Given the description of an element on the screen output the (x, y) to click on. 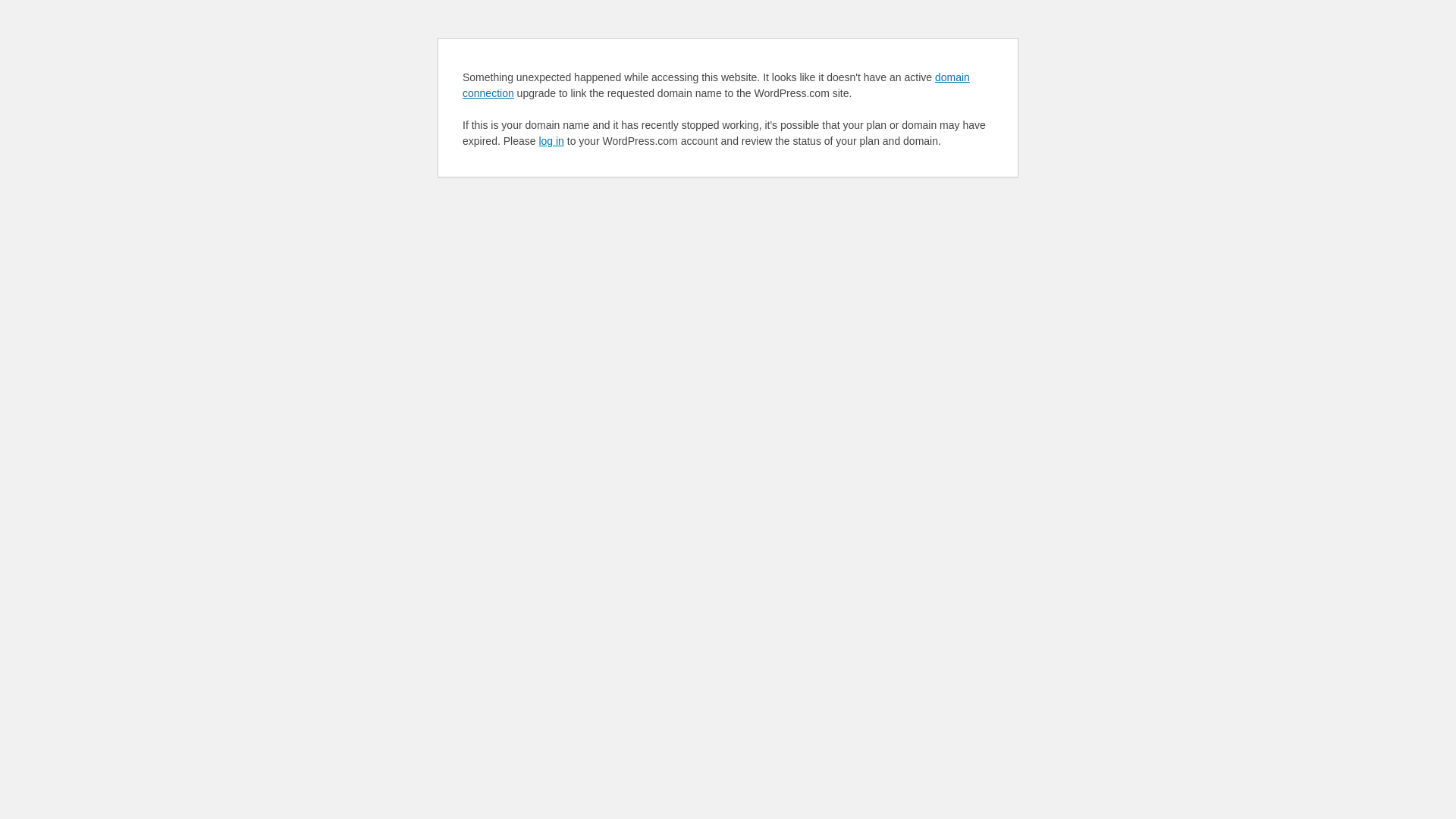
domain connection Element type: text (715, 85)
log in Element type: text (550, 140)
